Given the description of an element on the screen output the (x, y) to click on. 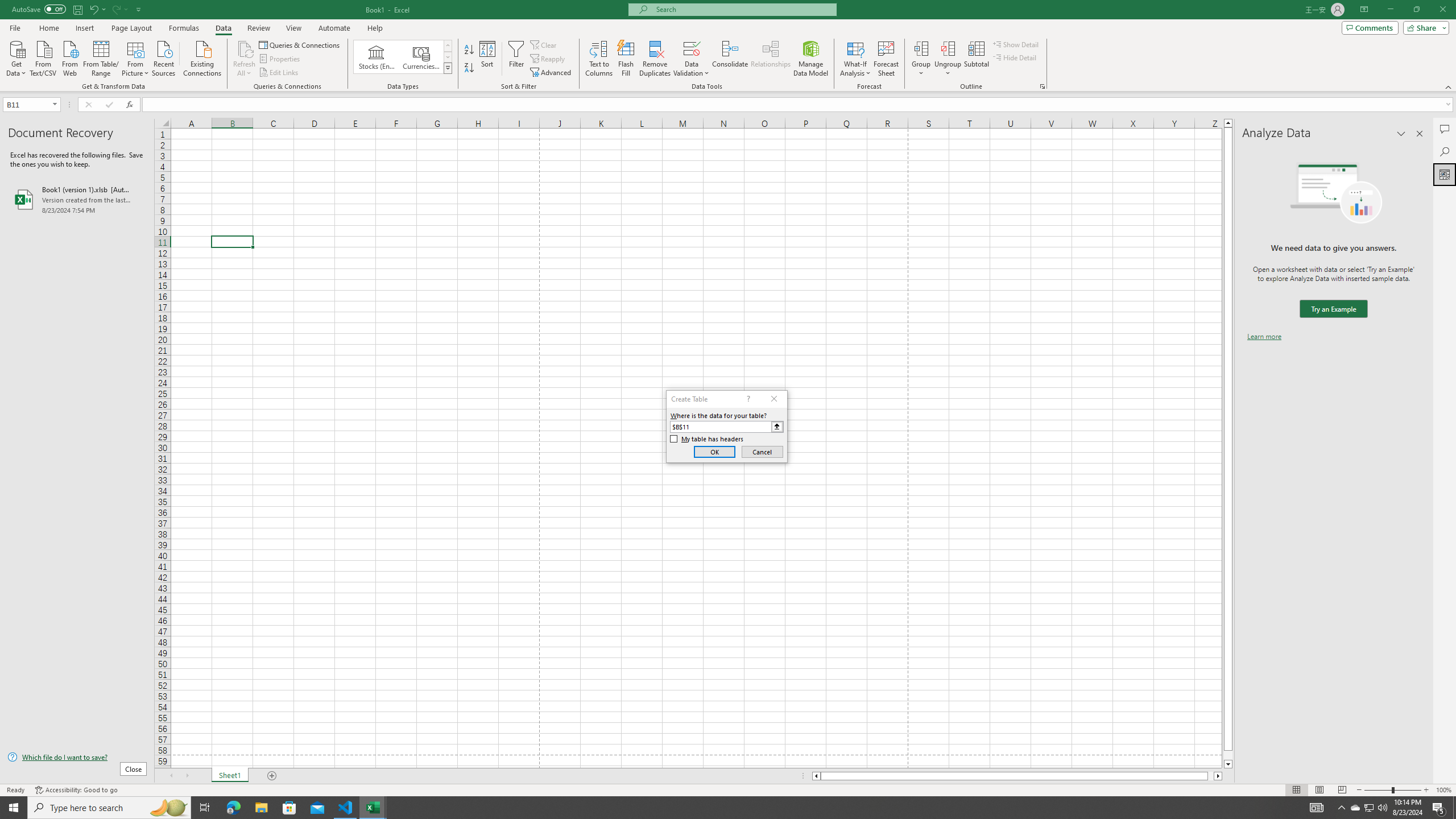
Sort... (487, 58)
Edit Links (279, 72)
Data Types (448, 67)
Flash Fill (625, 58)
Forecast Sheet (885, 58)
Row Down (448, 56)
